Given the description of an element on the screen output the (x, y) to click on. 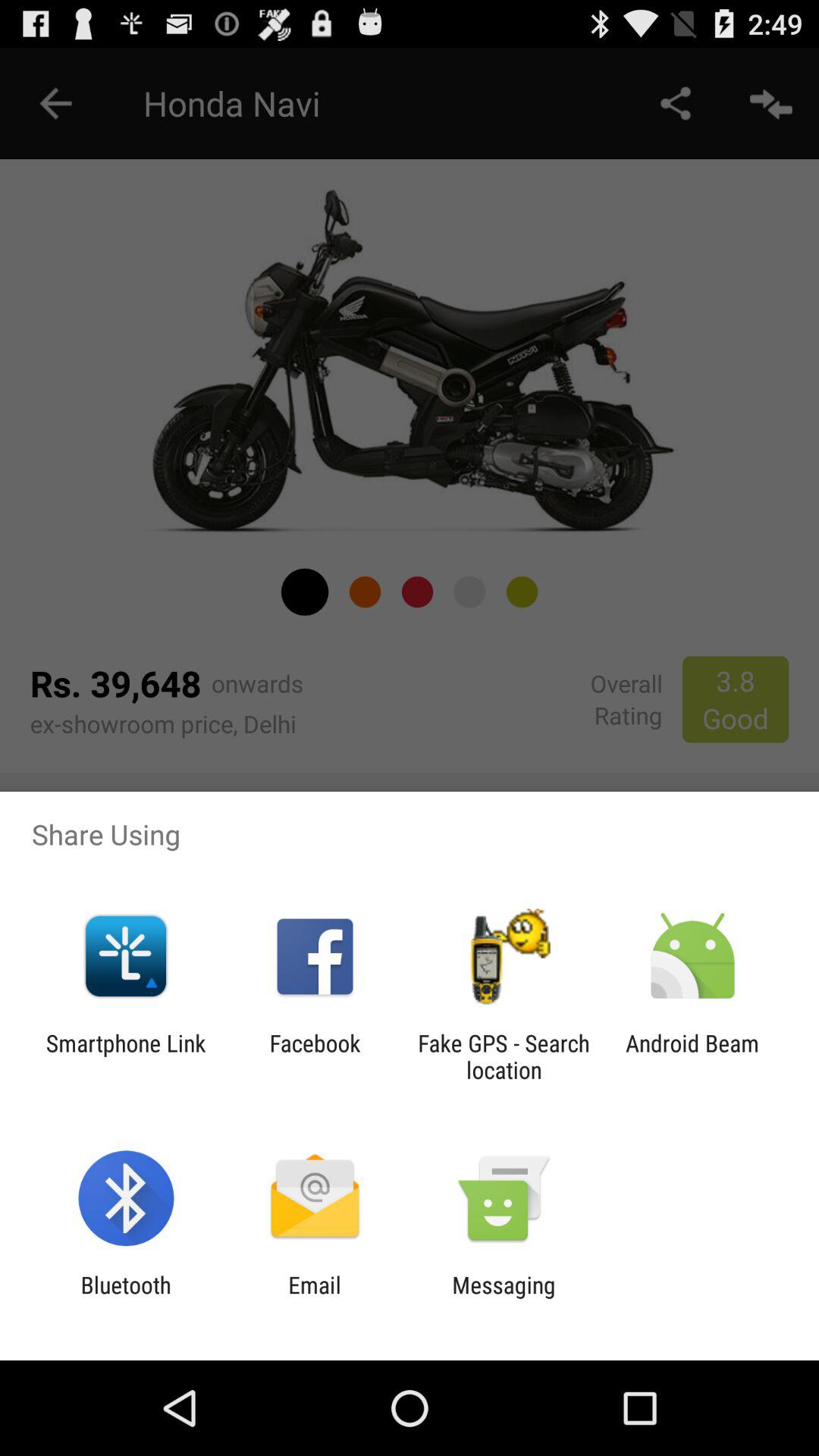
choose the android beam app (692, 1056)
